Given the description of an element on the screen output the (x, y) to click on. 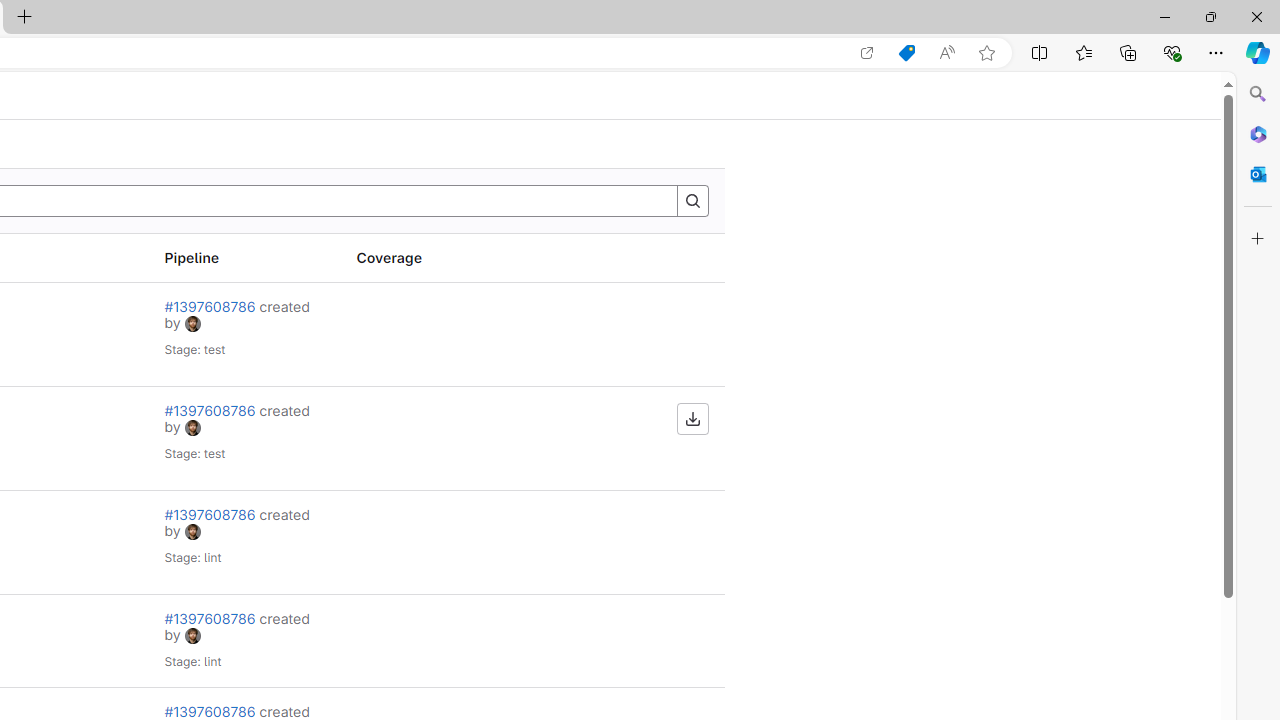
Actions (628, 258)
Class: gl-text-right (628, 641)
Class: !gl-hidden lg:!gl-table-cell (436, 641)
avatar (192, 636)
Shopping in Microsoft Edge (906, 53)
#1397608786 created by avatar Stage: lint (244, 641)
